Given the description of an element on the screen output the (x, y) to click on. 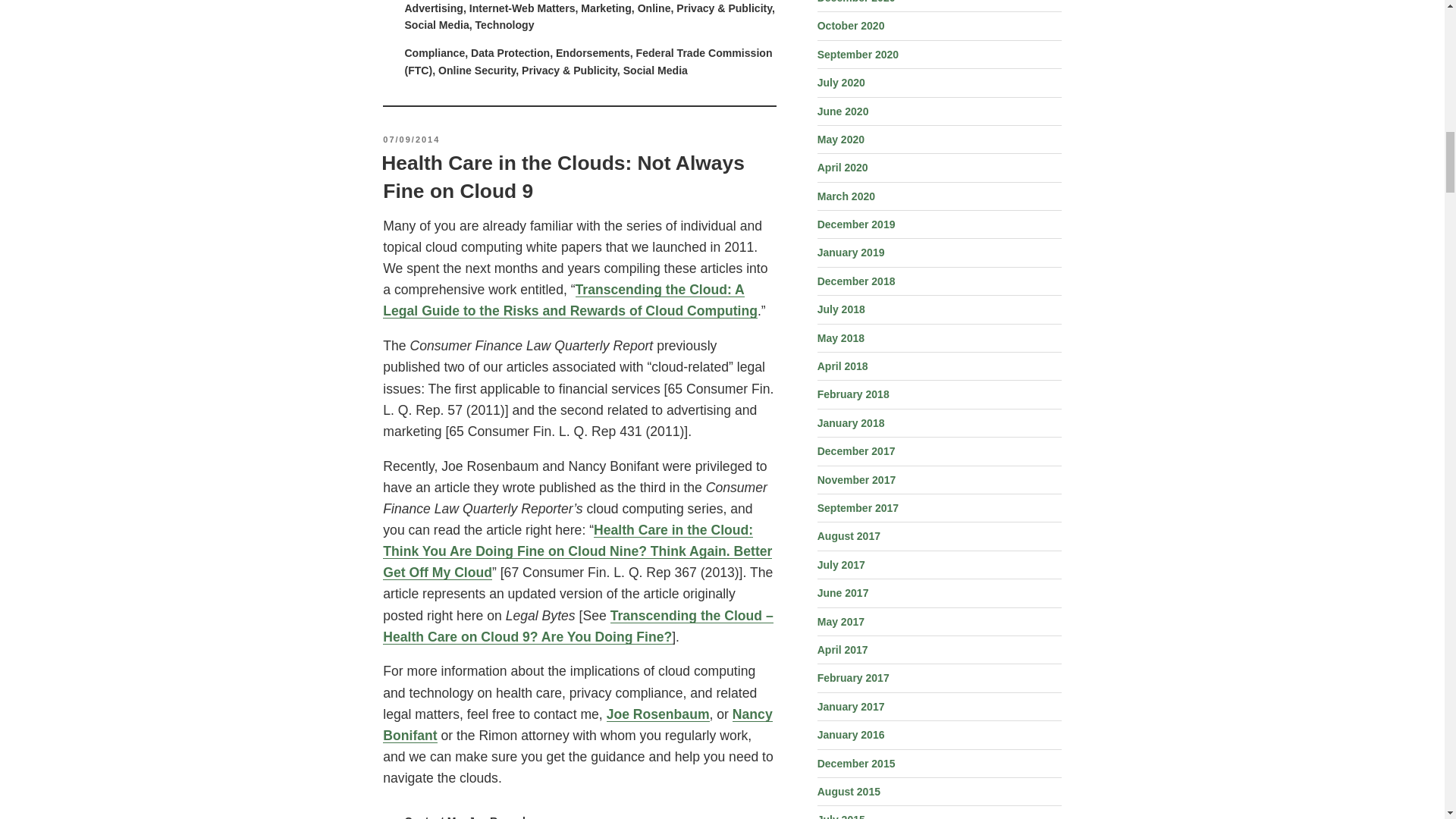
Advertising (433, 8)
Online Security (476, 70)
Endorsements (593, 52)
Social Media (655, 70)
Health Care in the Clouds: Not Always Fine on Cloud 9 (562, 176)
Online (654, 8)
Data Protection (510, 52)
Internet-Web Matters (521, 8)
Joe Rosenbaum (658, 713)
Social Media (436, 24)
Compliance (434, 52)
Marketing (605, 8)
Technology (505, 24)
